Given the description of an element on the screen output the (x, y) to click on. 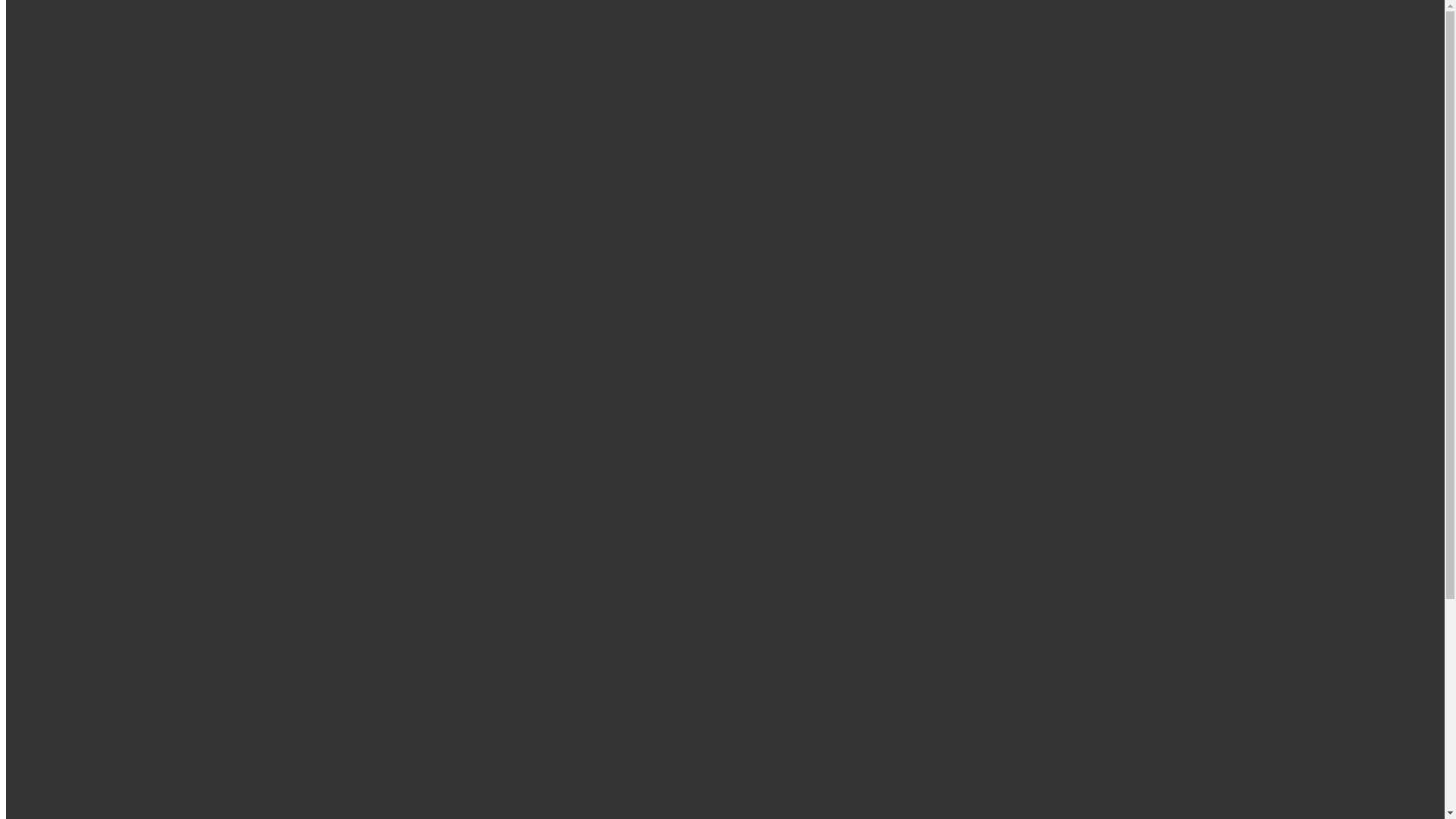
Running a Contract with CERN Element type: text (143, 259)
Key Reference Documents Element type: text (131, 368)
Who to Contact in Your Country Element type: text (145, 464)
Guidelines for Recruiters Element type: text (67, 769)
Business opportunities at CERN Element type: text (145, 286)
Business opportunities at other institutes Element type: text (164, 300)
Who to Contact at CERN Element type: text (128, 450)
Toggle navigation Element type: text (51, 192)
Procurement Strategy and Policy Element type: text (146, 409)
Doing business with CERN Element type: text (133, 231)
CERN Accelerating science Element type: text (147, 48)
Industrial Returns for CERN Member States Element type: text (174, 395)
Home Element type: text (50, 218)
Code of Professional Ethics Extract Element type: text (152, 382)
Sign in Element type: text (83, 86)
Procurement and Industrial Services Group Element type: text (111, 125)
Directory Element type: text (59, 100)
CERN Procurement Codes Element type: text (131, 354)
Supplier database Element type: text (109, 341)
Supplier Portal Element type: text (102, 327)
Skip to main content Element type: text (56, 12)
News Element type: text (49, 423)
High Luminosity LHC Project Element type: text (140, 313)
Contact Element type: text (55, 436)
Procurement Process Element type: text (117, 245)
